Given the description of an element on the screen output the (x, y) to click on. 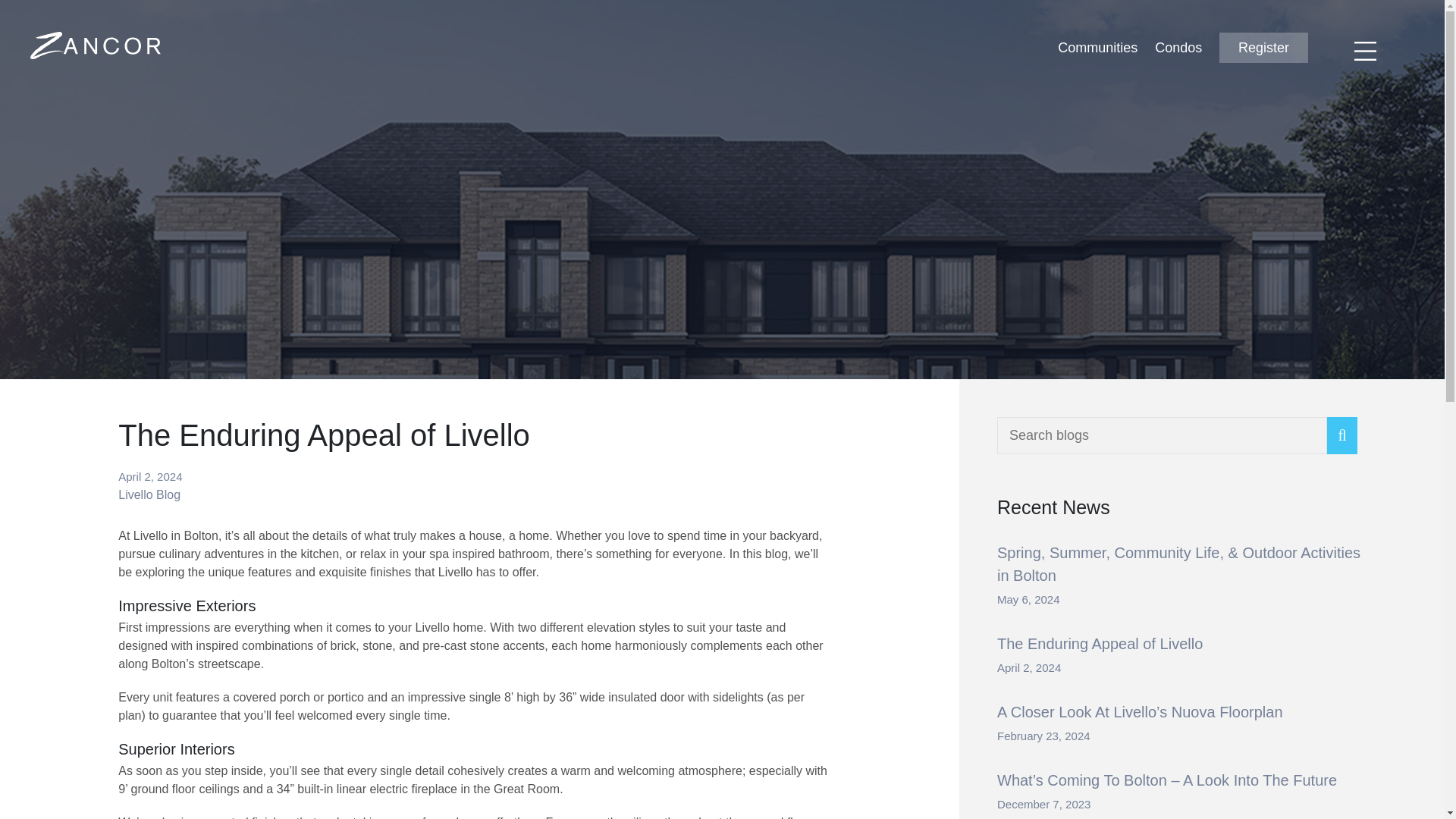
Communities (1097, 47)
The Enduring Appeal of Livello (1099, 643)
Livello Blog (148, 494)
Condos (1178, 47)
Register (1263, 47)
